Given the description of an element on the screen output the (x, y) to click on. 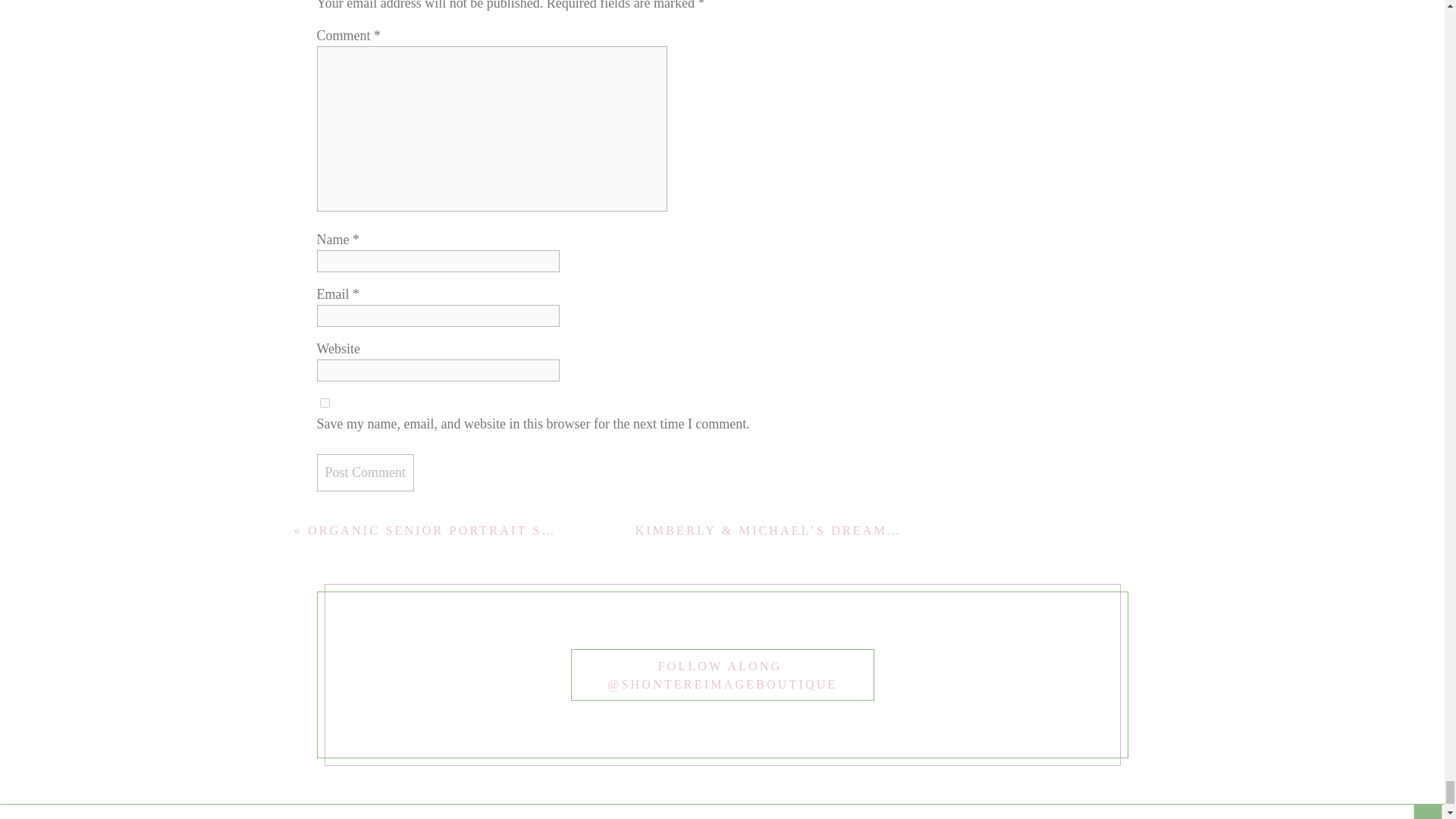
Post Comment (365, 472)
yes (325, 402)
Post Comment (365, 472)
